Given the description of an element on the screen output the (x, y) to click on. 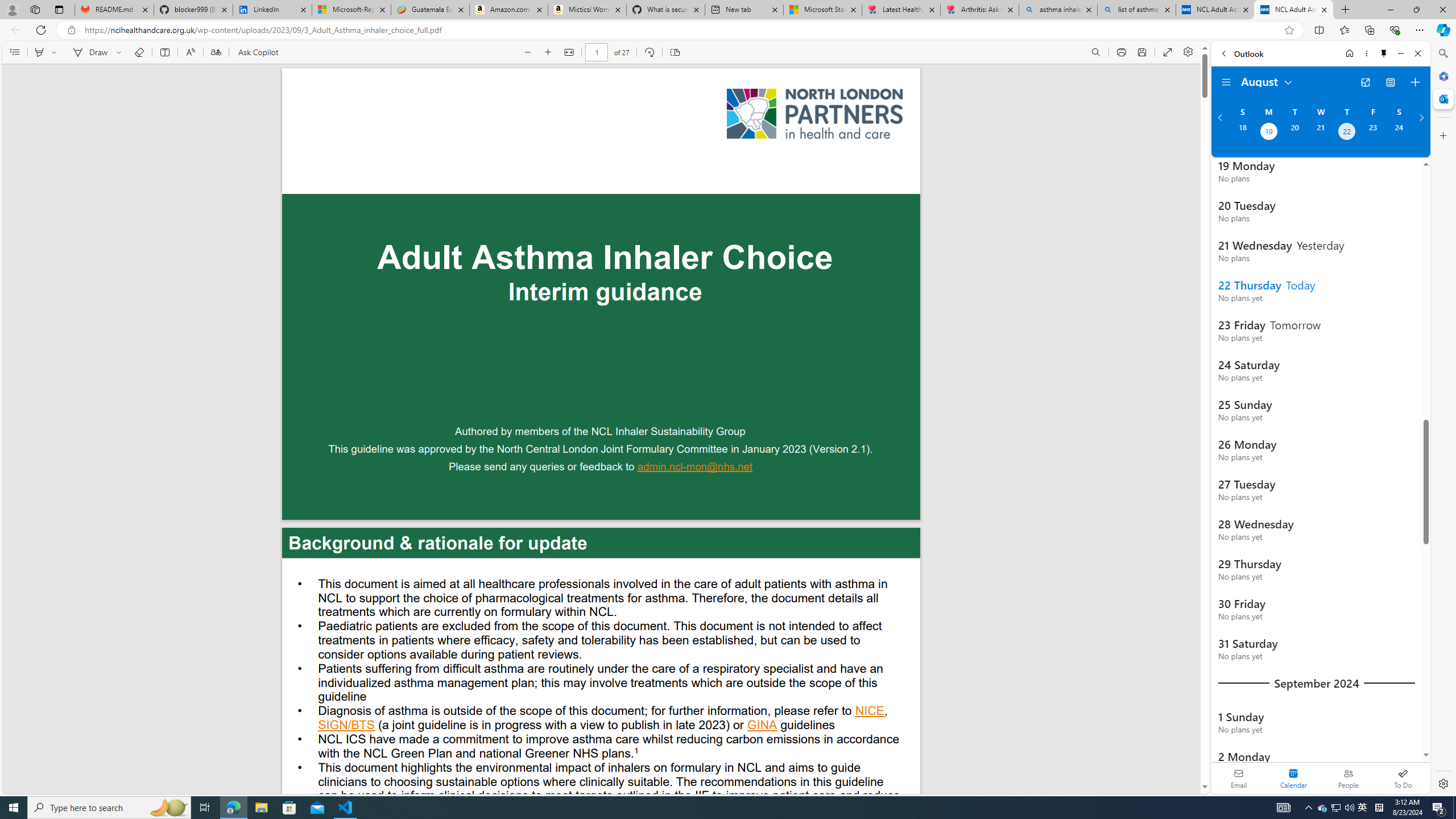
Folder navigation (1225, 82)
Email (1238, 777)
People (1347, 777)
Erase (138, 52)
Monday, August 19, 2024. Date selected.  (1268, 132)
Contents (14, 52)
Ask Copilot (257, 52)
Saturday, August 24, 2024.  (1399, 132)
Tuesday, August 20, 2024.  (1294, 132)
